Given the description of an element on the screen output the (x, y) to click on. 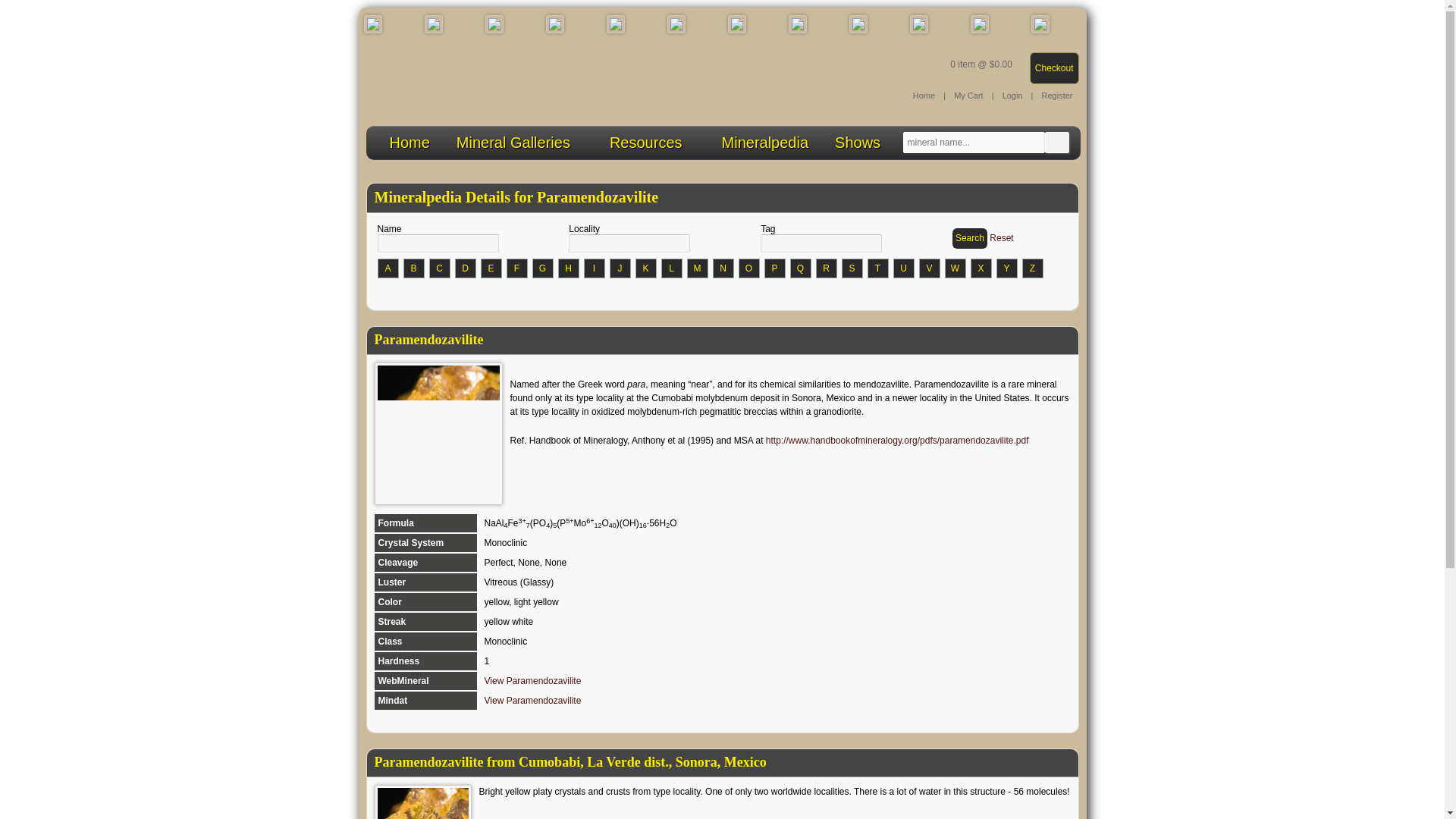
My Cart (968, 94)
RockandMineralShows.com (857, 142)
Mineral Galleries (519, 142)
Checkout (1053, 68)
Home (923, 94)
Register (1056, 94)
Resources (652, 142)
Login (1012, 94)
Home (409, 142)
Search (969, 237)
